Given the description of an element on the screen output the (x, y) to click on. 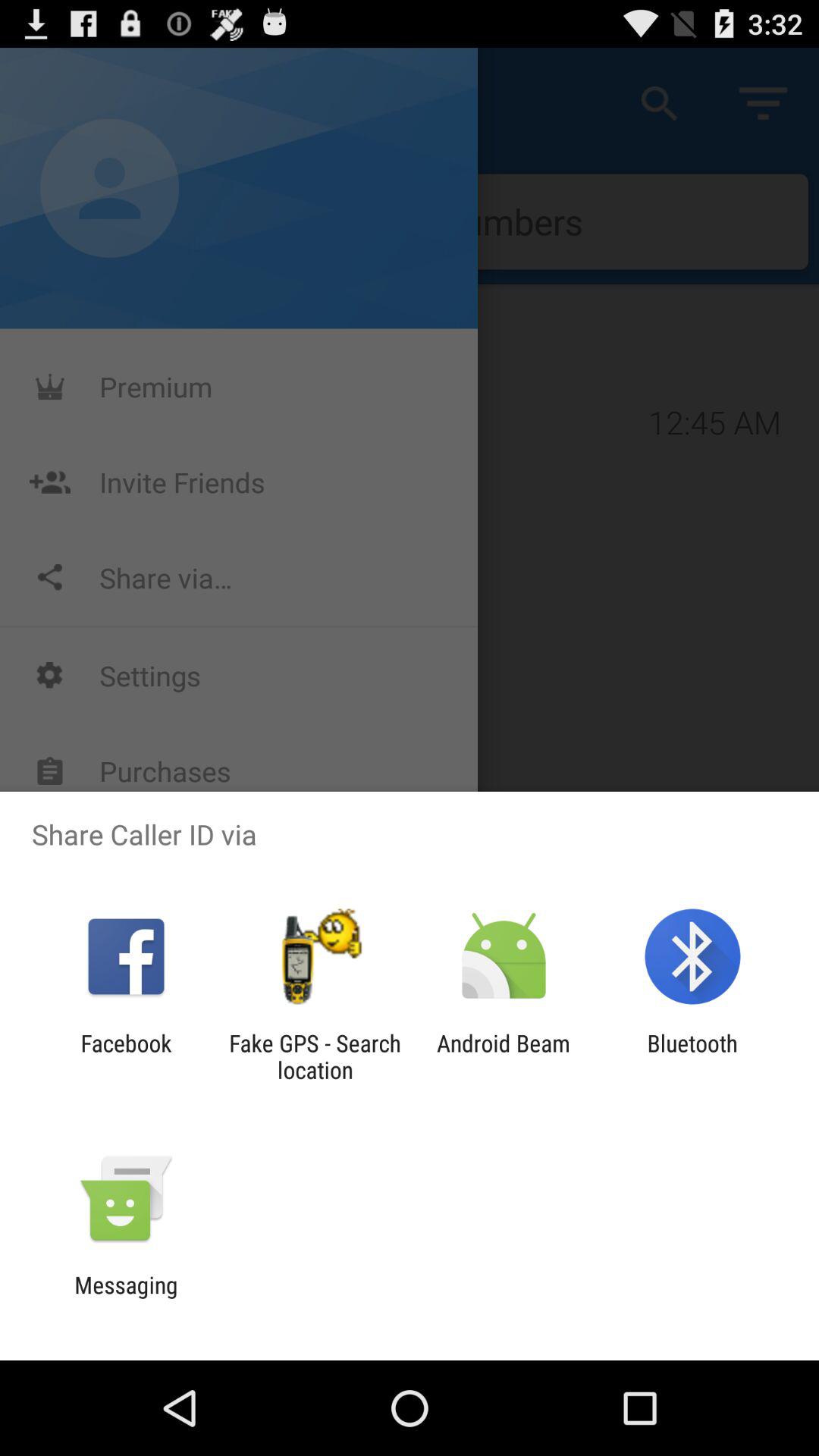
tap the item to the right of the fake gps search (503, 1056)
